Given the description of an element on the screen output the (x, y) to click on. 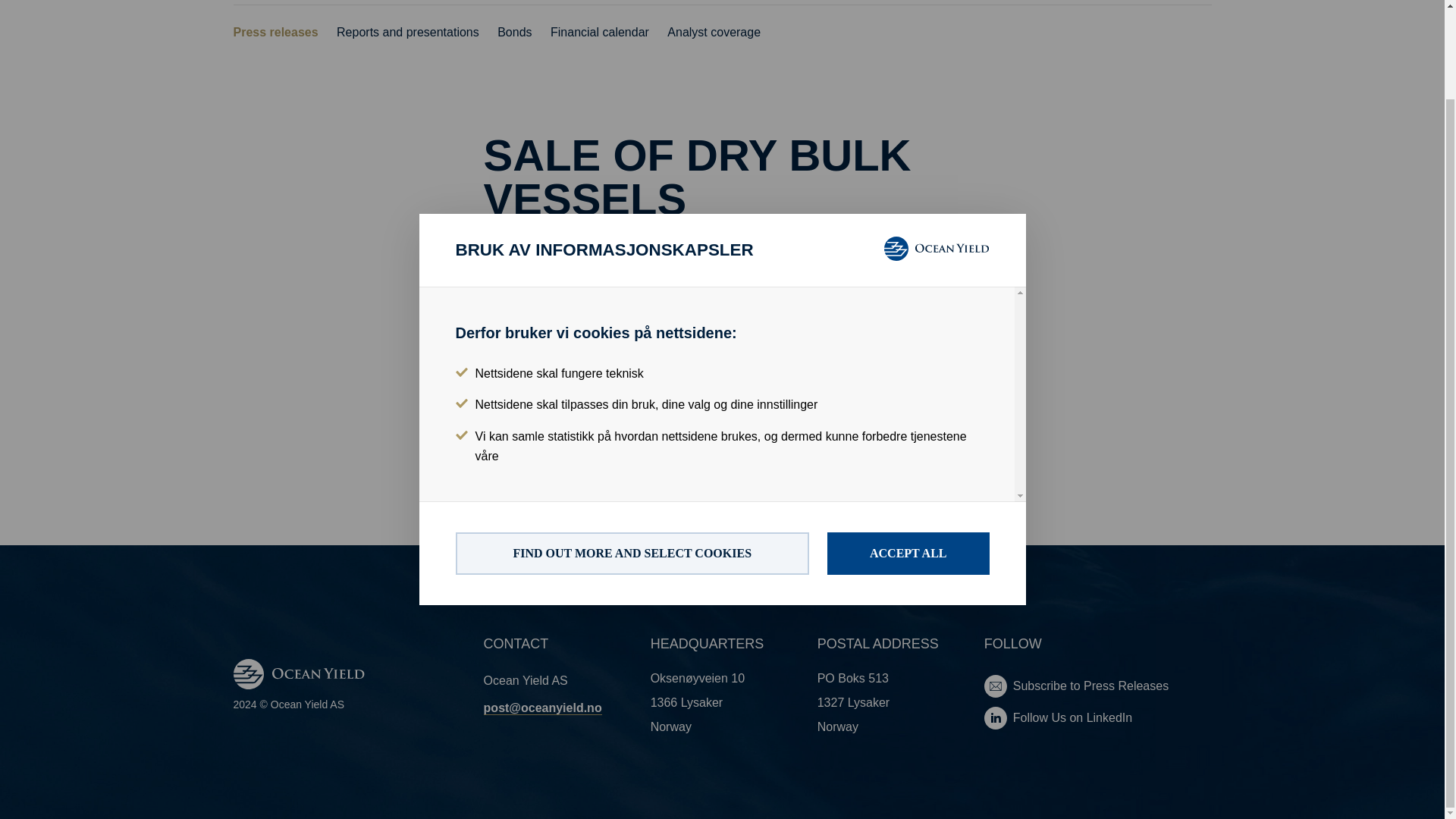
Press releases (275, 32)
Financial calendar (599, 32)
Bonds (514, 32)
Follow Us on LinkedIn (1097, 717)
Subscribe to Press Releases (1097, 685)
Reports and presentations (407, 32)
FIND OUT MORE AND SELECT COOKIES (631, 451)
Analyst coverage (713, 32)
ACCEPT ALL (908, 451)
